Given the description of an element on the screen output the (x, y) to click on. 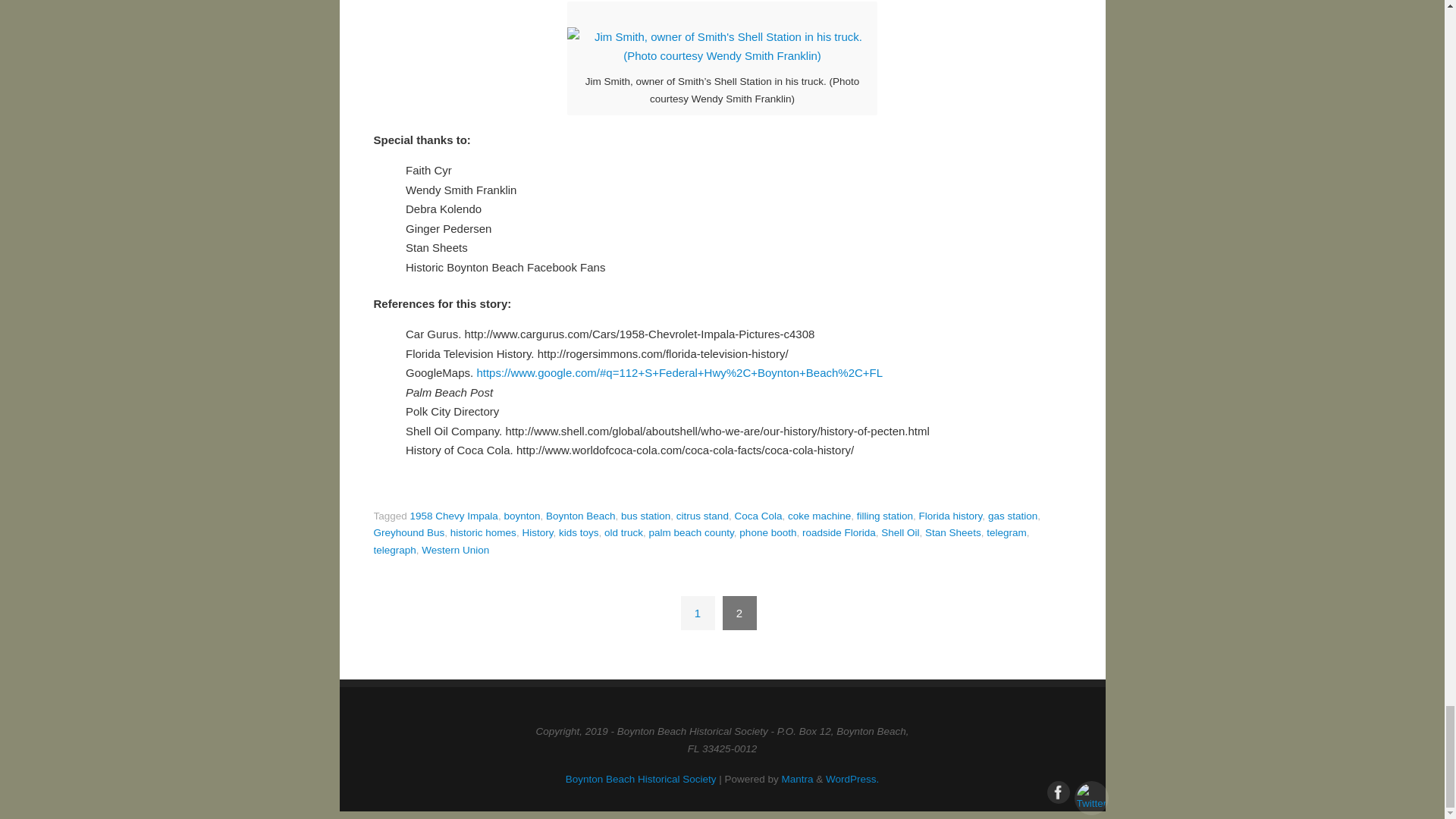
Mantra Theme by Cryout Creations (797, 778)
Semantic Personal Publishing Platform (852, 778)
Boynton Beach Historical Society (641, 778)
